Given the description of an element on the screen output the (x, y) to click on. 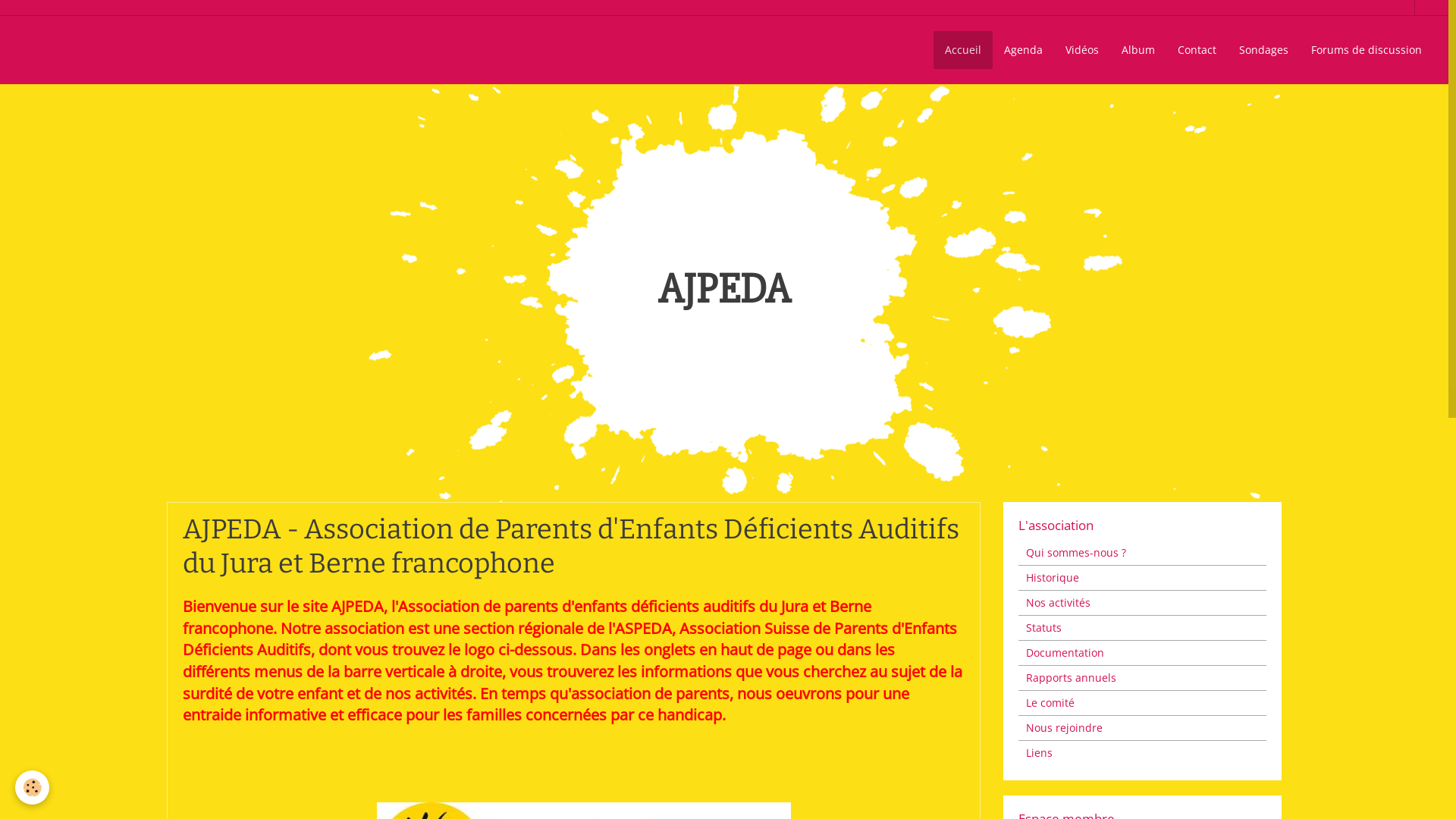
Sondages Element type: text (1263, 50)
Accueil Element type: text (962, 50)
Qui sommes-nous ? Element type: text (1141, 552)
Historique Element type: text (1141, 577)
Album Element type: text (1138, 50)
Rapports annuels Element type: text (1141, 677)
Forums de discussion Element type: text (1366, 50)
Contact Element type: text (1196, 50)
Documentation Element type: text (1141, 652)
Agenda Element type: text (1023, 50)
Statuts Element type: text (1141, 627)
Liens Element type: text (1141, 752)
Nous rejoindre Element type: text (1141, 727)
